Given the description of an element on the screen output the (x, y) to click on. 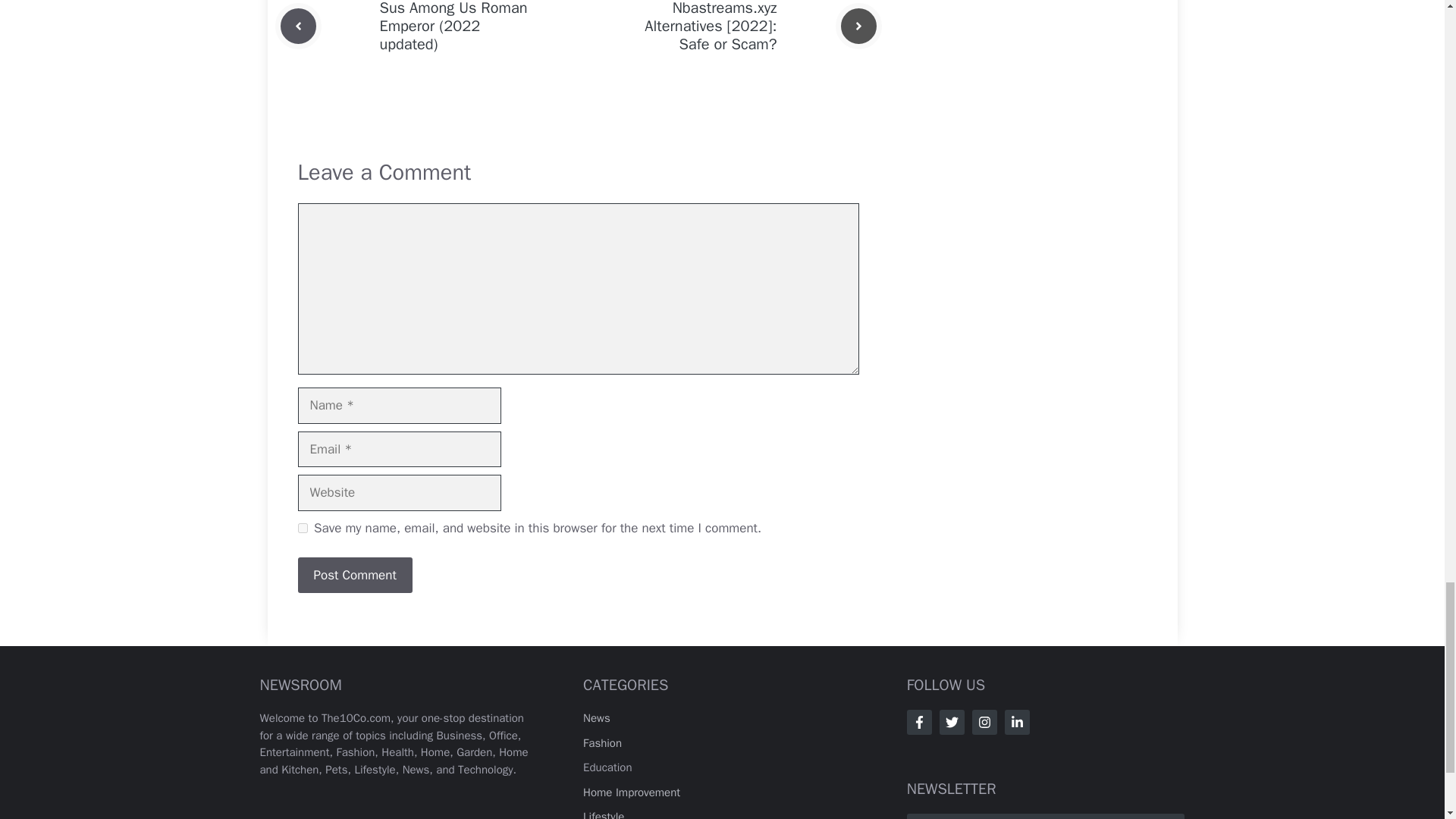
Lifestyle (603, 814)
Home Improvement (631, 792)
Post Comment (354, 575)
Fashion (602, 743)
News (596, 717)
Post Comment (354, 575)
yes (302, 528)
